Given the description of an element on the screen output the (x, y) to click on. 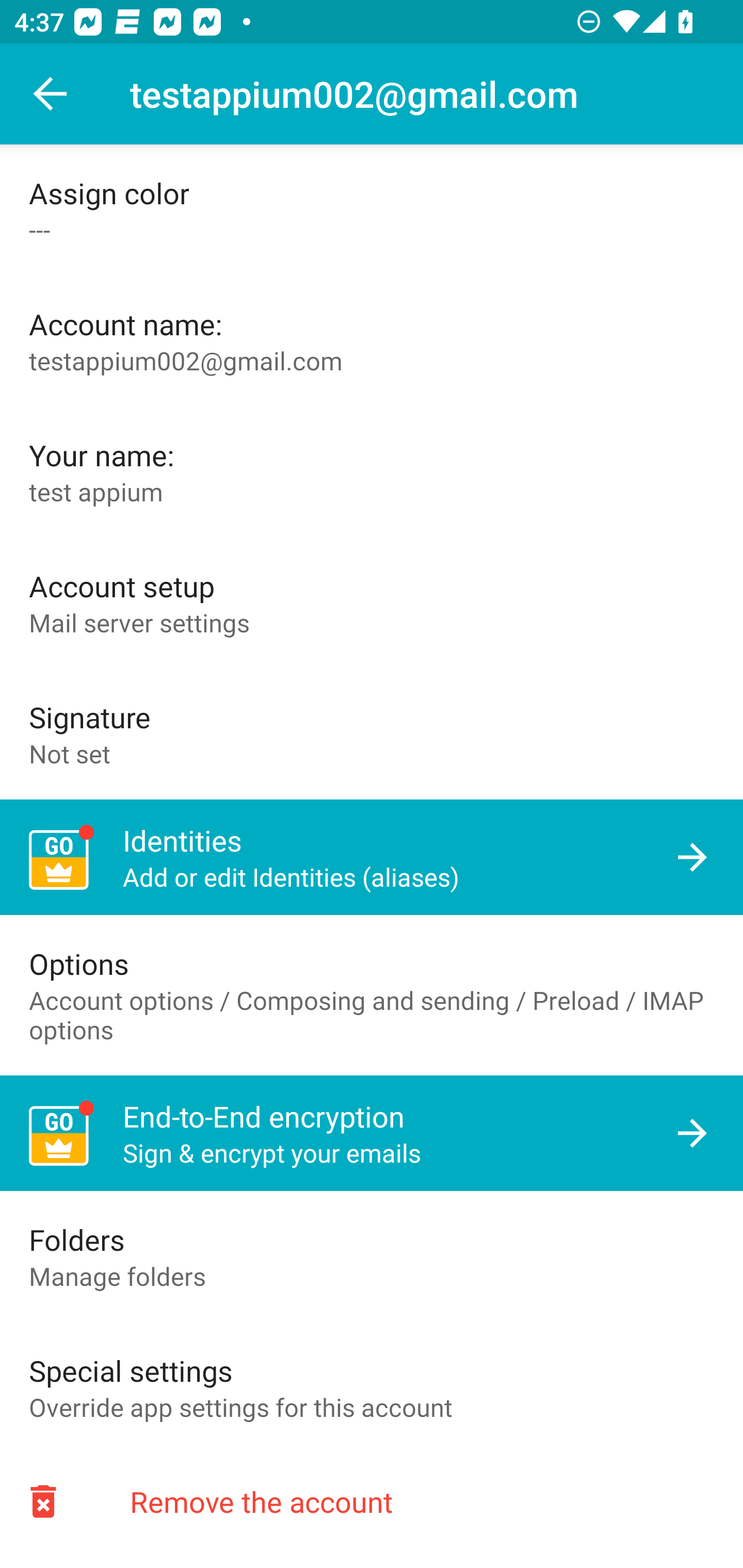
Navigate up (50, 93)
Assign color --- (371, 209)
Account name: testappium002@gmail.com (371, 340)
Your name: test appium (371, 471)
Account setup Mail server settings (371, 602)
Signature Not set (371, 733)
Identities Add or edit Identities (aliases) (371, 857)
End-to-End encryption Sign & encrypt your emails (371, 1133)
Folders Manage folders (371, 1256)
Remove the account (371, 1501)
